Given the description of an element on the screen output the (x, y) to click on. 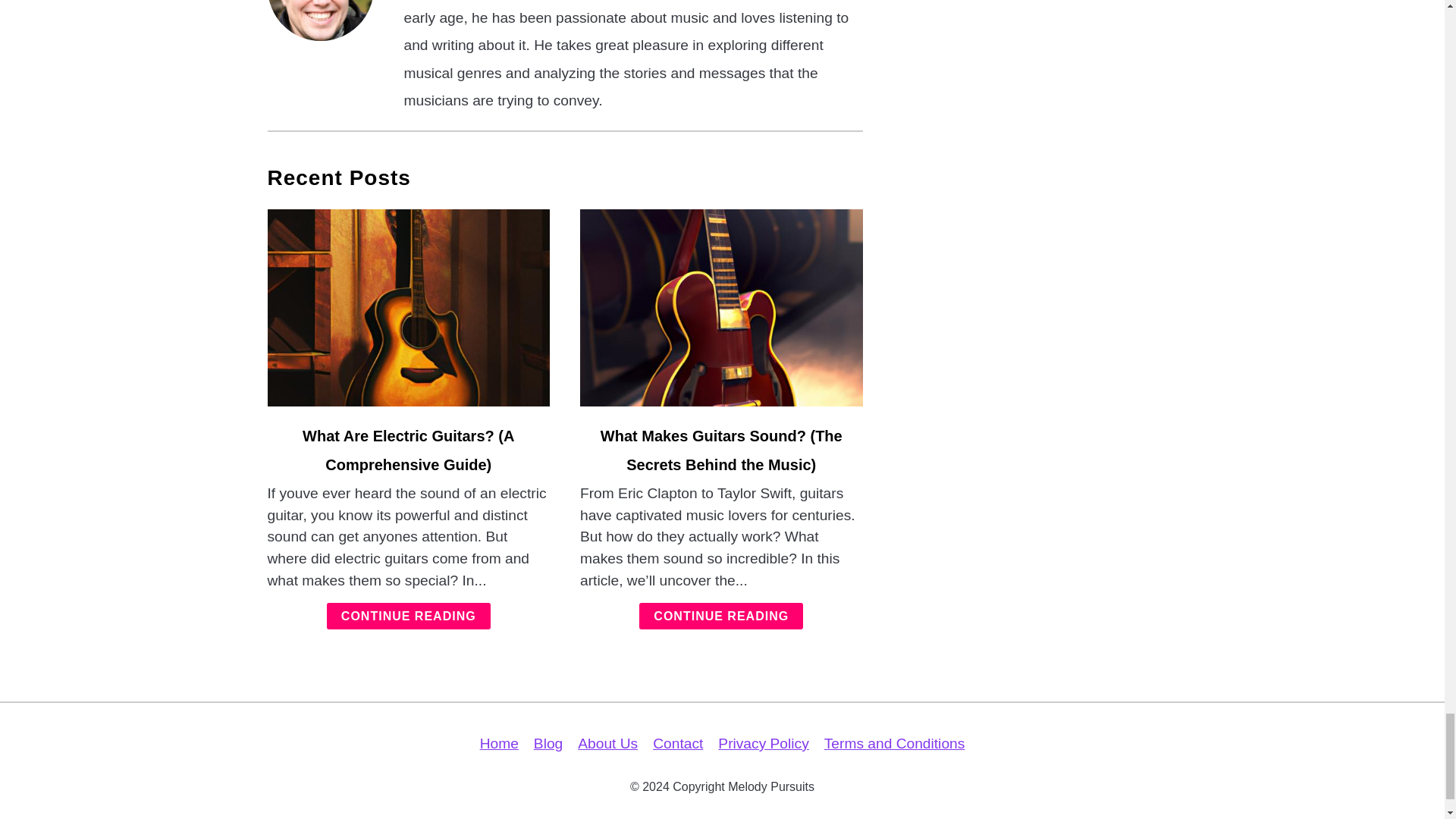
CONTINUE READING (721, 615)
Terms and Conditions (894, 743)
Contact (677, 743)
CONTINUE READING (408, 615)
About Us (607, 743)
Privacy Policy (762, 743)
Blog (548, 743)
Home (499, 743)
